Given the description of an element on the screen output the (x, y) to click on. 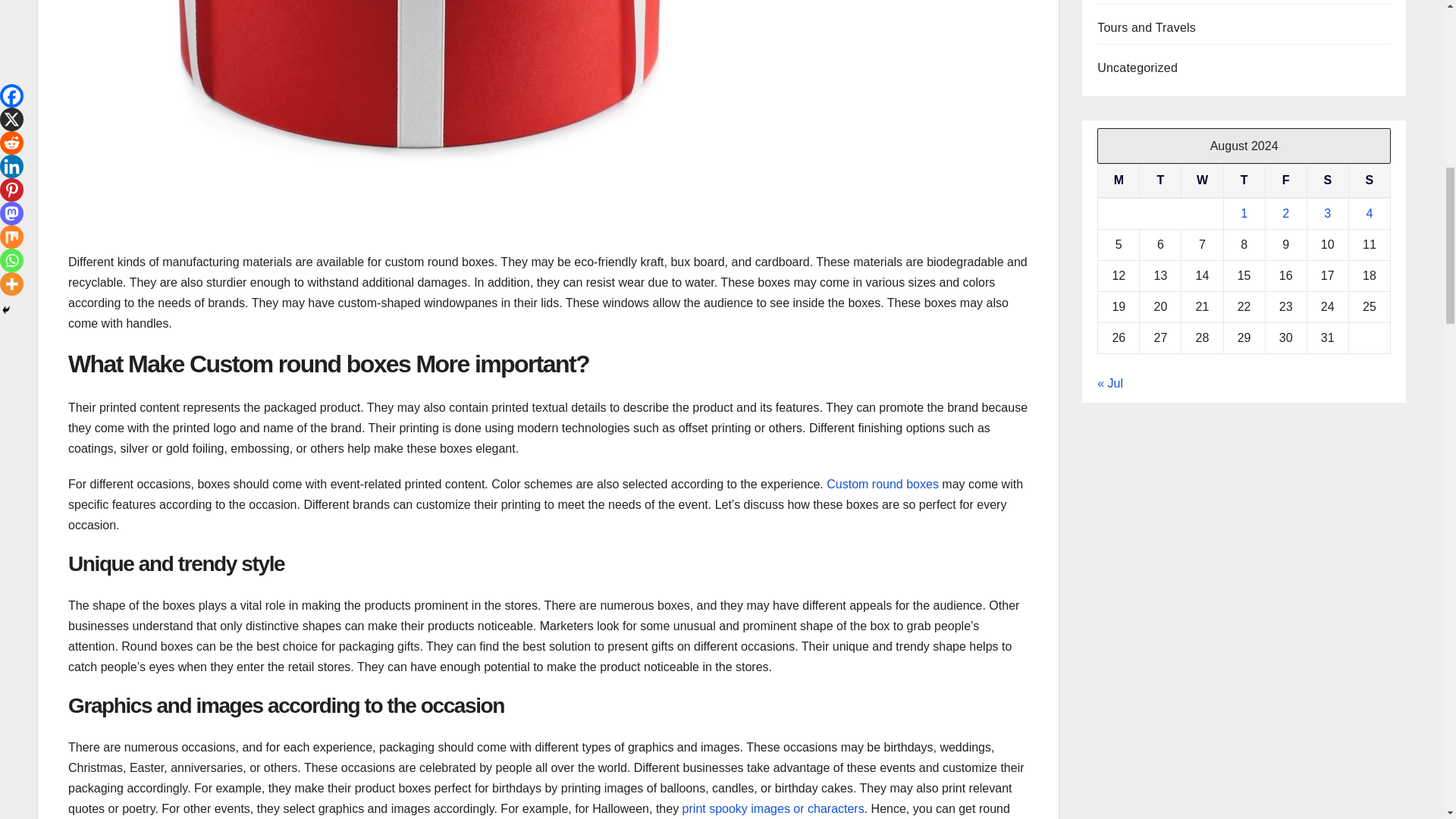
Custom round boxes (883, 483)
print spooky images or characters (773, 808)
